Given the description of an element on the screen output the (x, y) to click on. 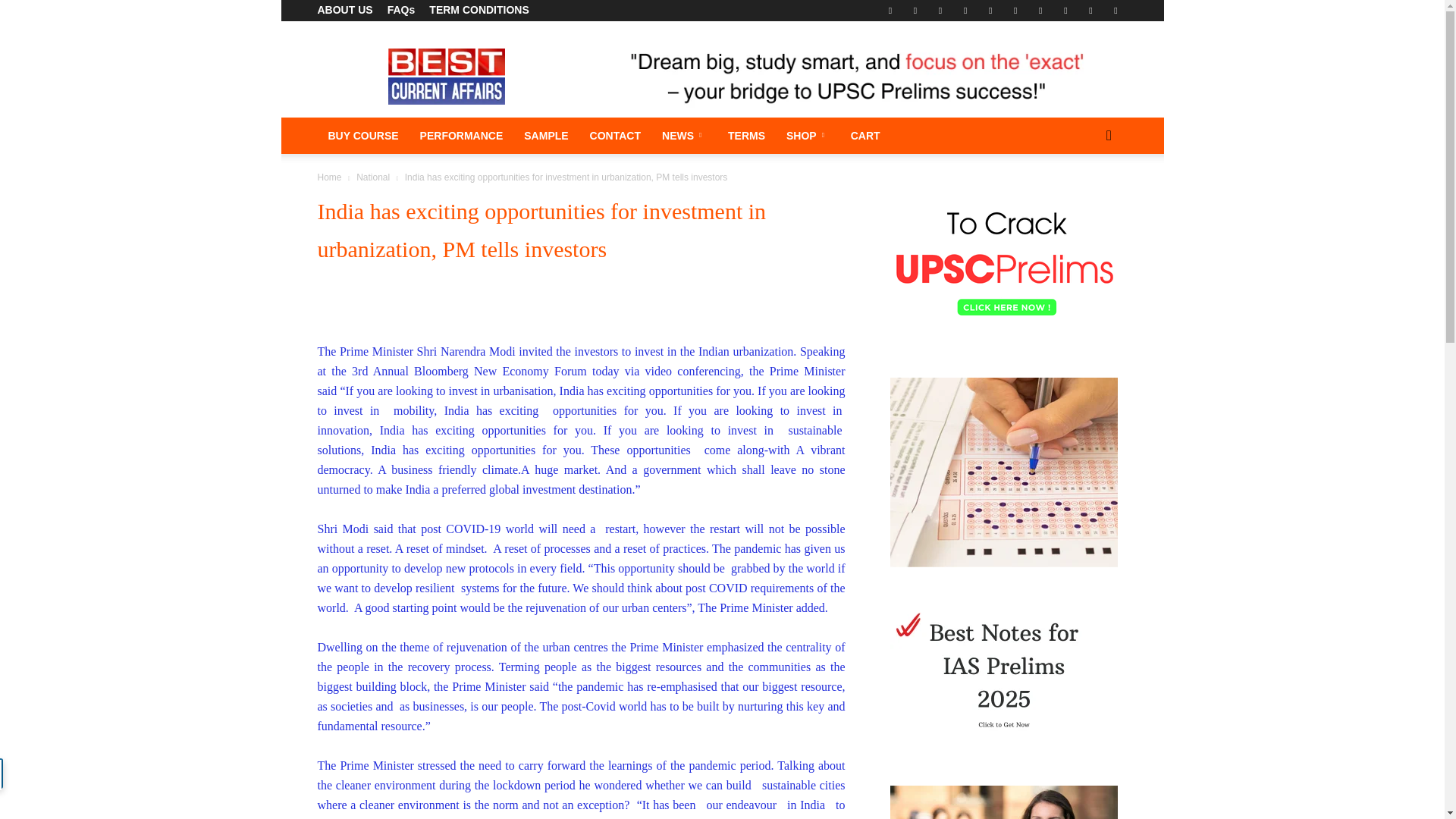
Instagram (964, 10)
TERM CONDITIONS (478, 9)
FAQs (400, 9)
Facebook (890, 10)
ABOUT US (344, 9)
Flickr (915, 10)
